Given the description of an element on the screen output the (x, y) to click on. 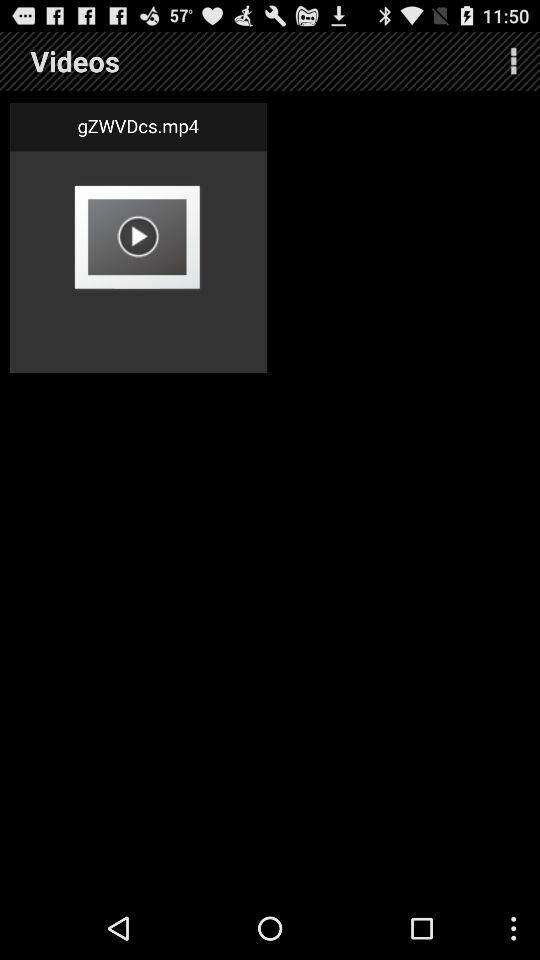
launch the button below gzwvdcs.mp4 (138, 236)
